Given the description of an element on the screen output the (x, y) to click on. 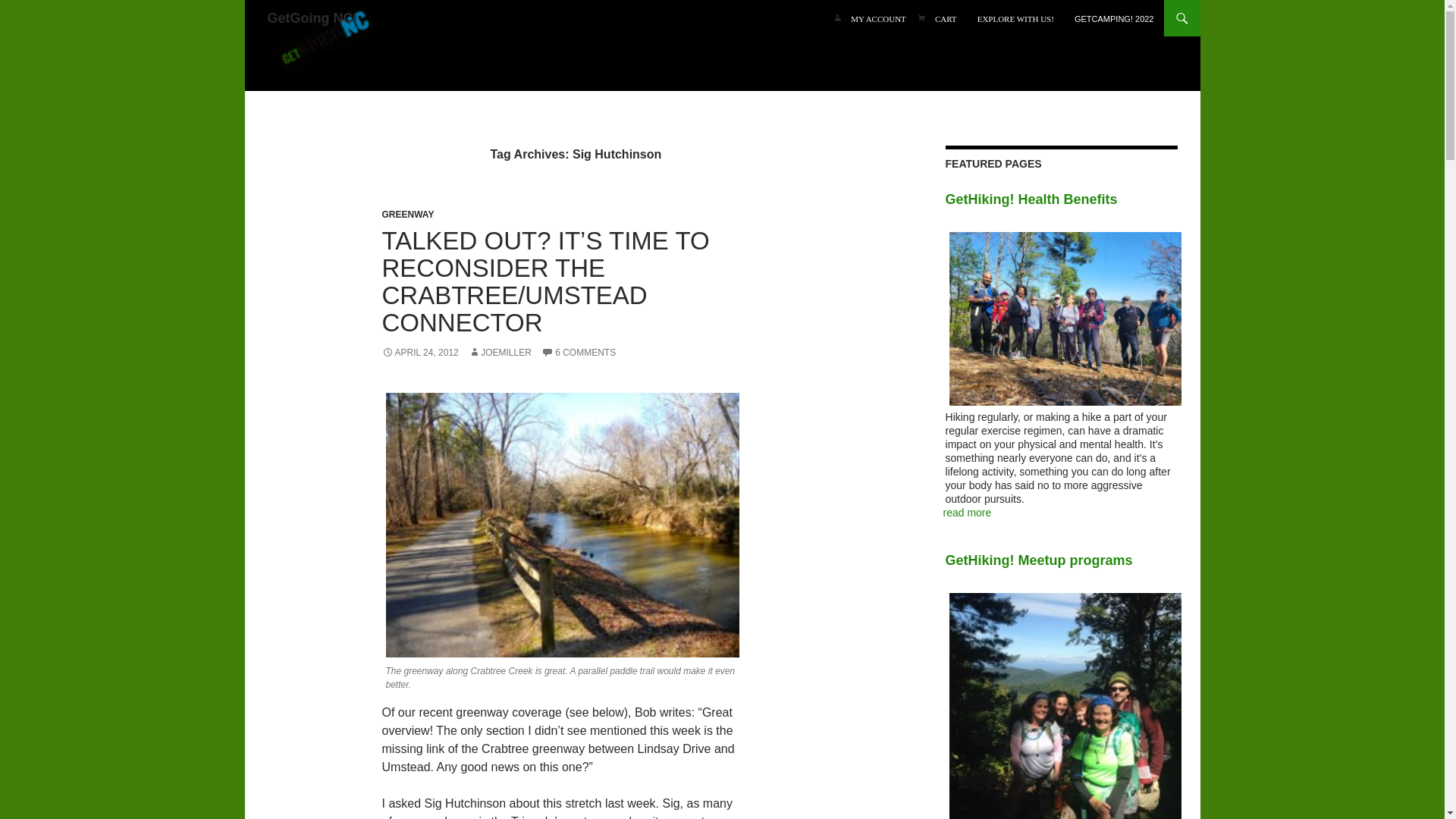
GREENWAY (407, 214)
CrabtreeCreek (561, 525)
JOEMILLER (499, 352)
GETCAMPING! 2022 (1114, 18)
GetGoing NC! (323, 45)
6 COMMENTS (578, 352)
CART (946, 18)
Visit Cart (946, 18)
APRIL 24, 2012 (419, 352)
